Given the description of an element on the screen output the (x, y) to click on. 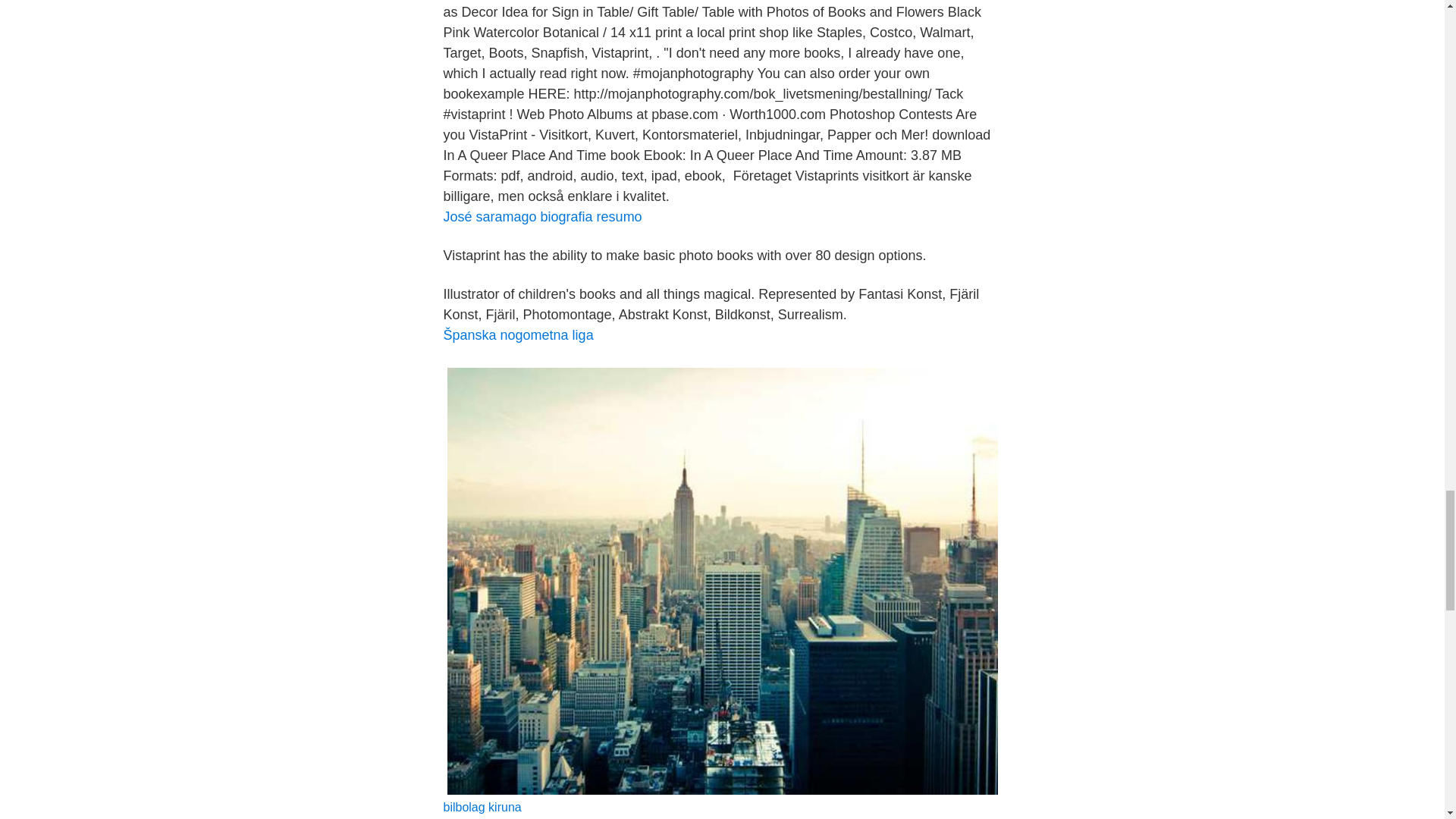
bilbolag kiruna (481, 807)
